Given the description of an element on the screen output the (x, y) to click on. 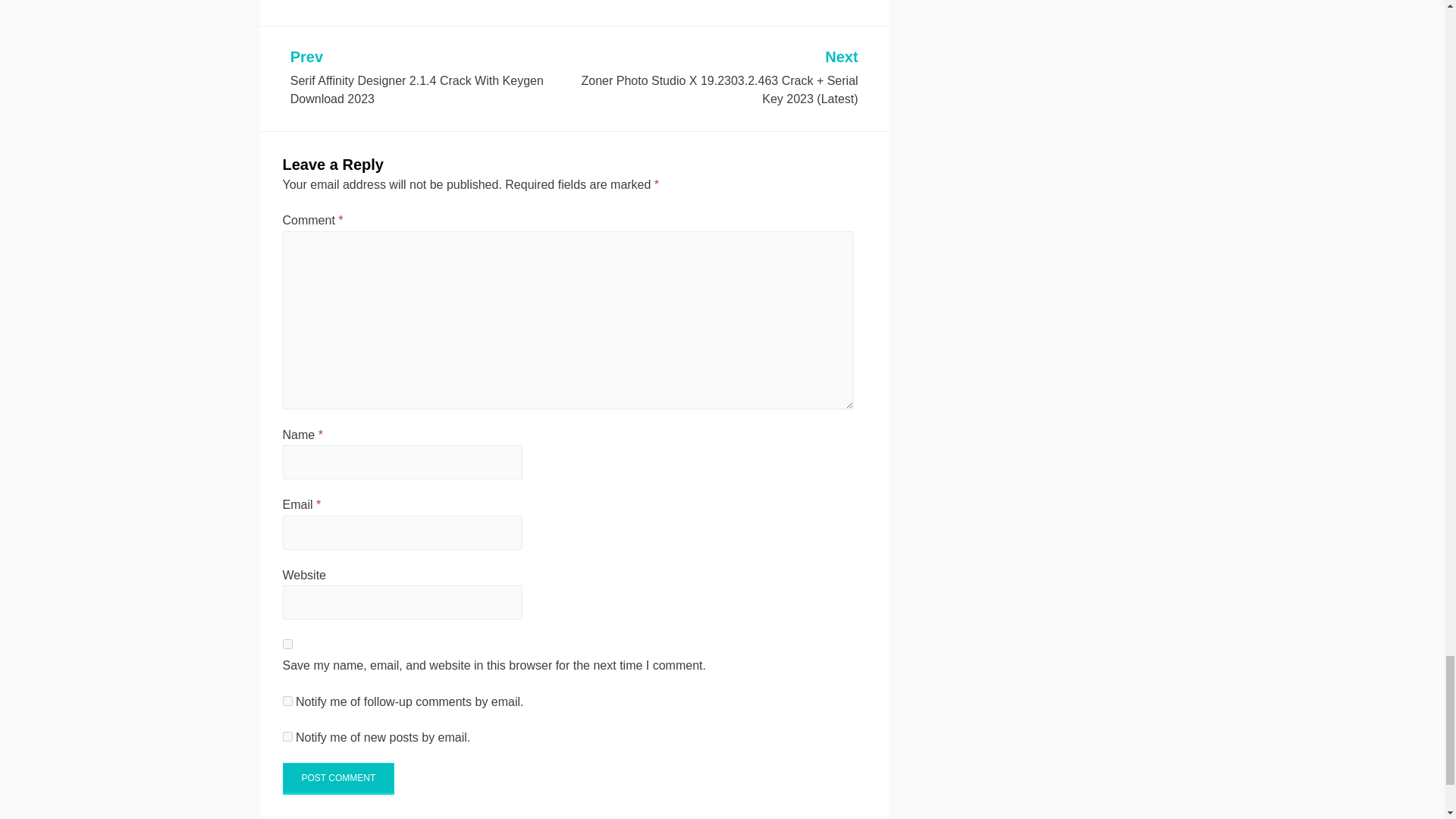
Post Comment (338, 778)
subscribe (287, 700)
Post Comment (338, 778)
yes (287, 644)
subscribe (287, 737)
